Given the description of an element on the screen output the (x, y) to click on. 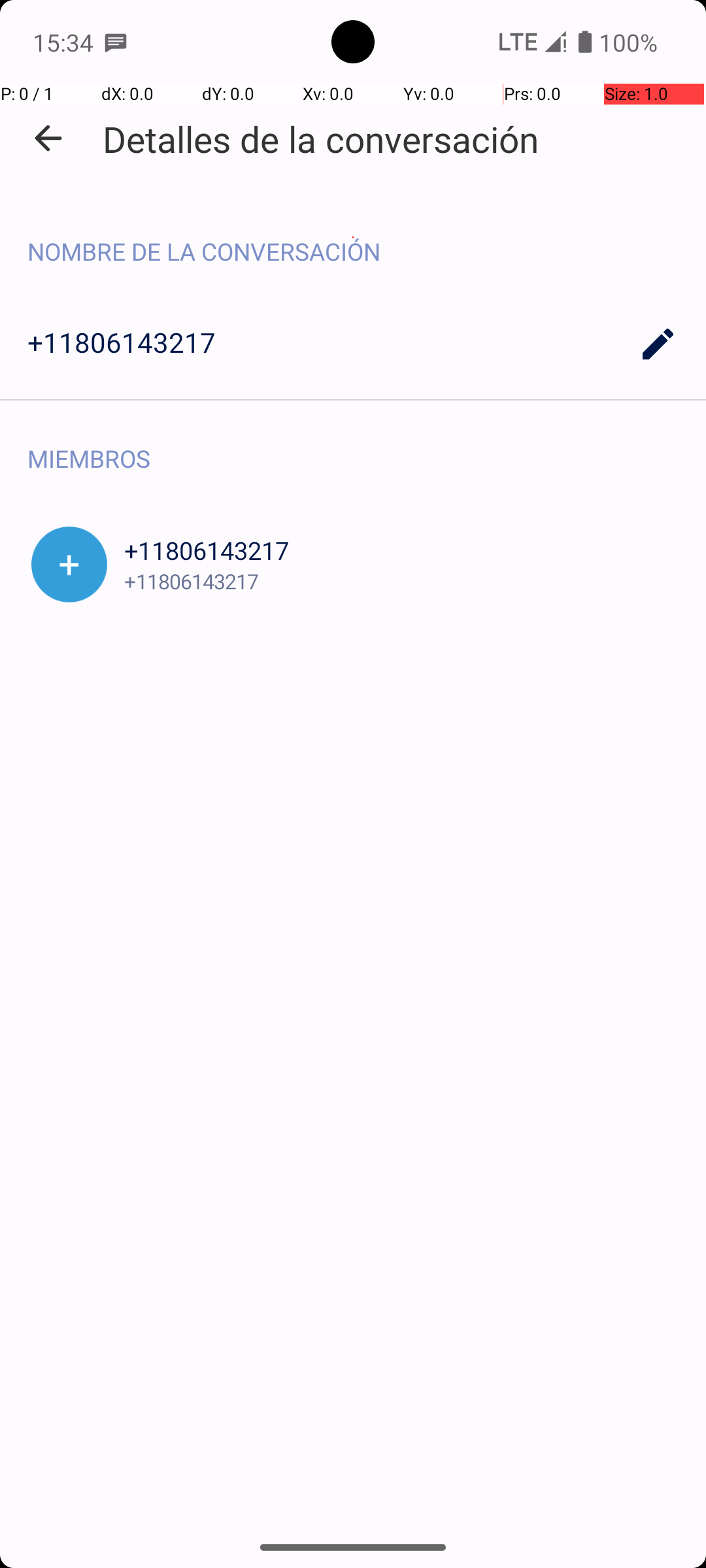
Atrás Element type: android.widget.ImageButton (48, 138)
Detalles de la conversación Element type: android.widget.TextView (320, 138)
NOMBRE DE LA CONVERSACIÓN Element type: android.widget.TextView (352, 237)
+11806143217 Element type: android.widget.TextView (353, 343)
MIEMBROS Element type: android.widget.TextView (352, 444)
